Given the description of an element on the screen output the (x, y) to click on. 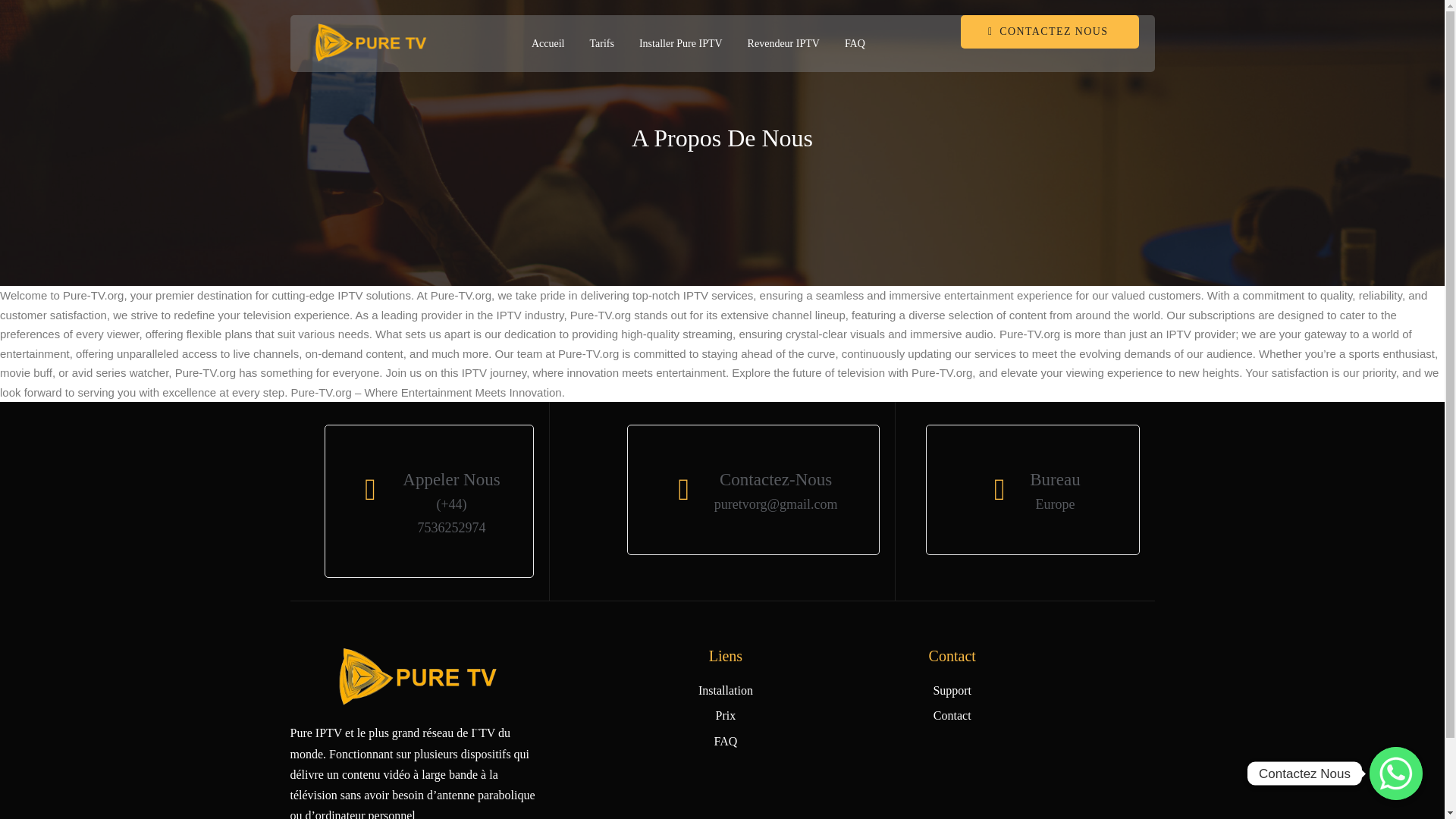
FAQ (725, 741)
Installer Pure IPTV (679, 43)
Contact (952, 715)
Contactez Nous (1396, 773)
Installation (725, 690)
Support (952, 690)
Accueil (547, 43)
CONTACTEZ NOUS (1049, 31)
Revendeur IPTV (782, 43)
Prix (725, 715)
